Given the description of an element on the screen output the (x, y) to click on. 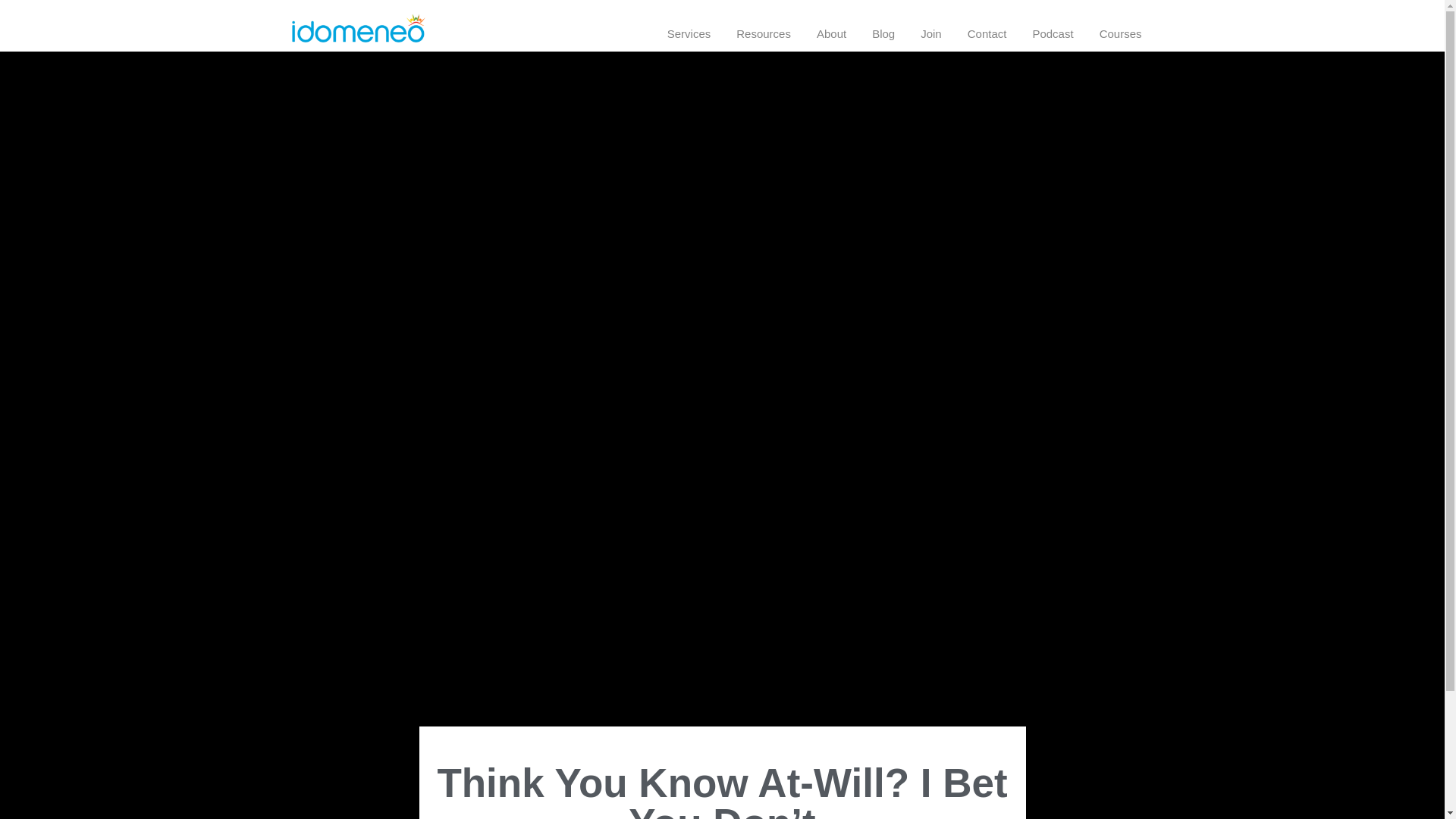
Podcast (1052, 33)
Contact (987, 33)
Services (688, 33)
Resources (763, 33)
Courses (1120, 33)
